Given the description of an element on the screen output the (x, y) to click on. 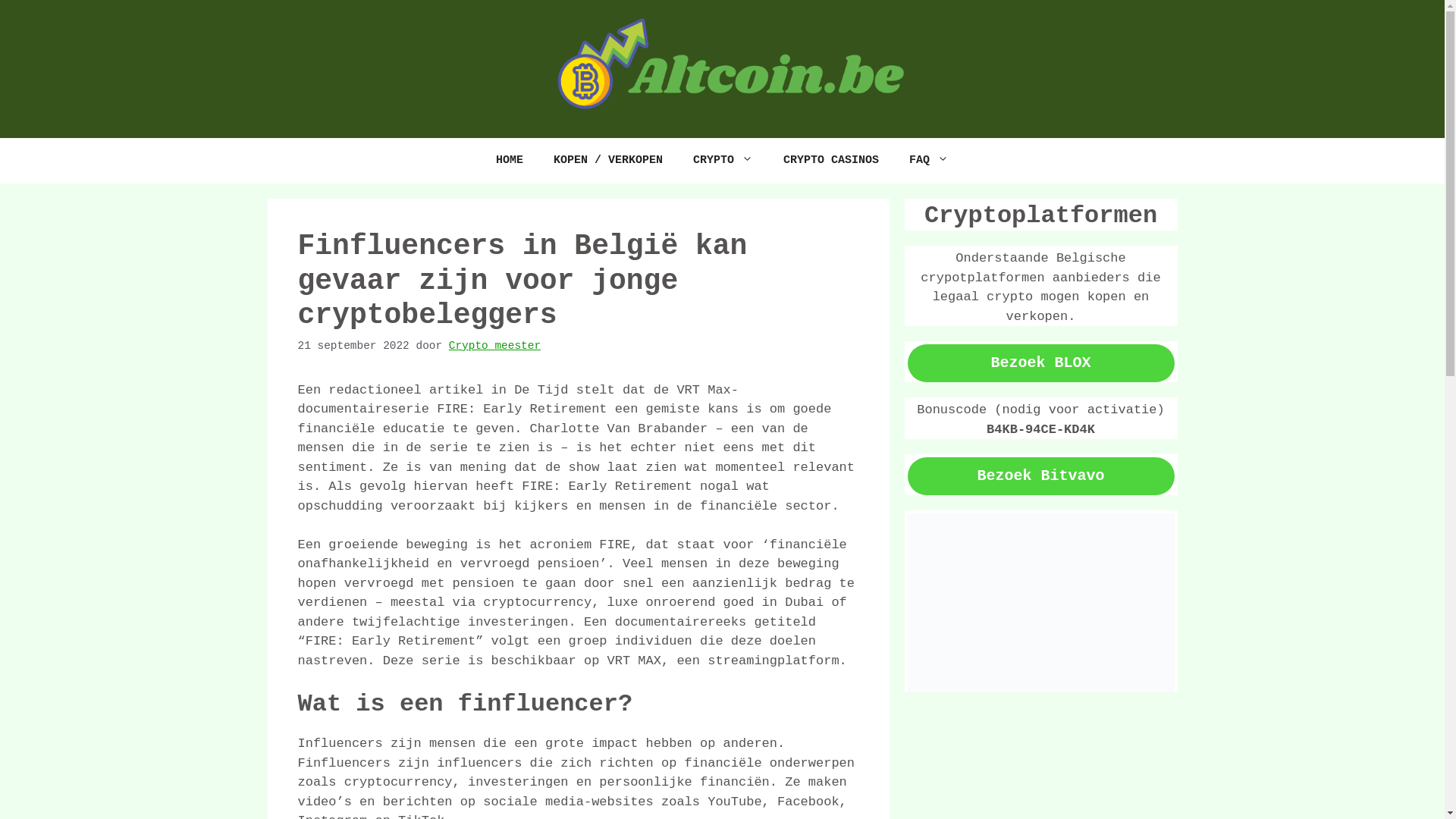
Bezoek BLOX Element type: text (1039, 363)
CRYPTO CASINOS Element type: text (831, 160)
FAQ Element type: text (928, 160)
CRYPTO Element type: text (722, 160)
Bezoek Bitvavo Element type: text (1039, 476)
Crypto meester Element type: text (494, 345)
KOPEN / VERKOPEN Element type: text (607, 160)
HOME Element type: text (509, 160)
